Given the description of an element on the screen output the (x, y) to click on. 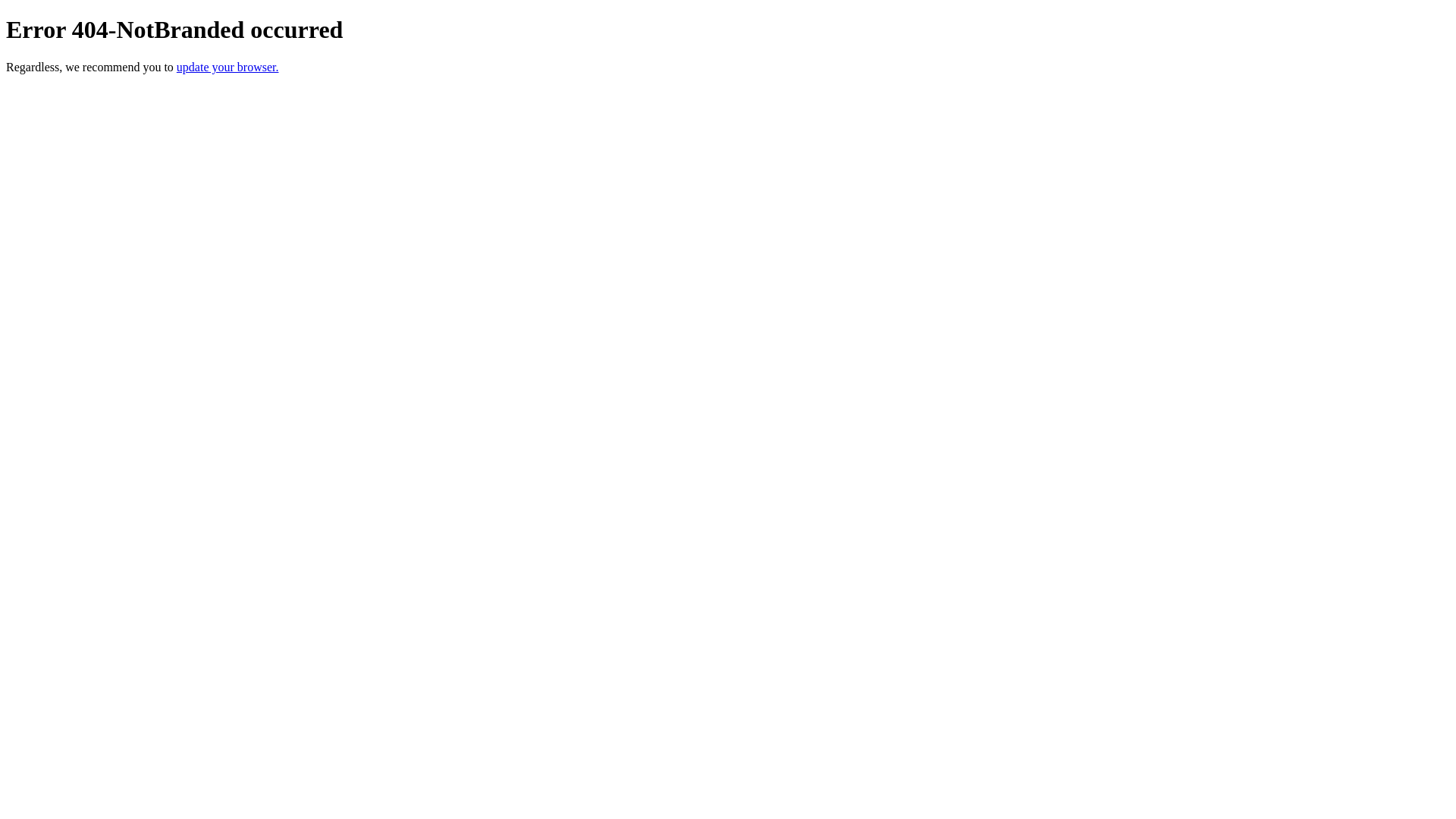
update your browser. Element type: text (227, 66)
